Given the description of an element on the screen output the (x, y) to click on. 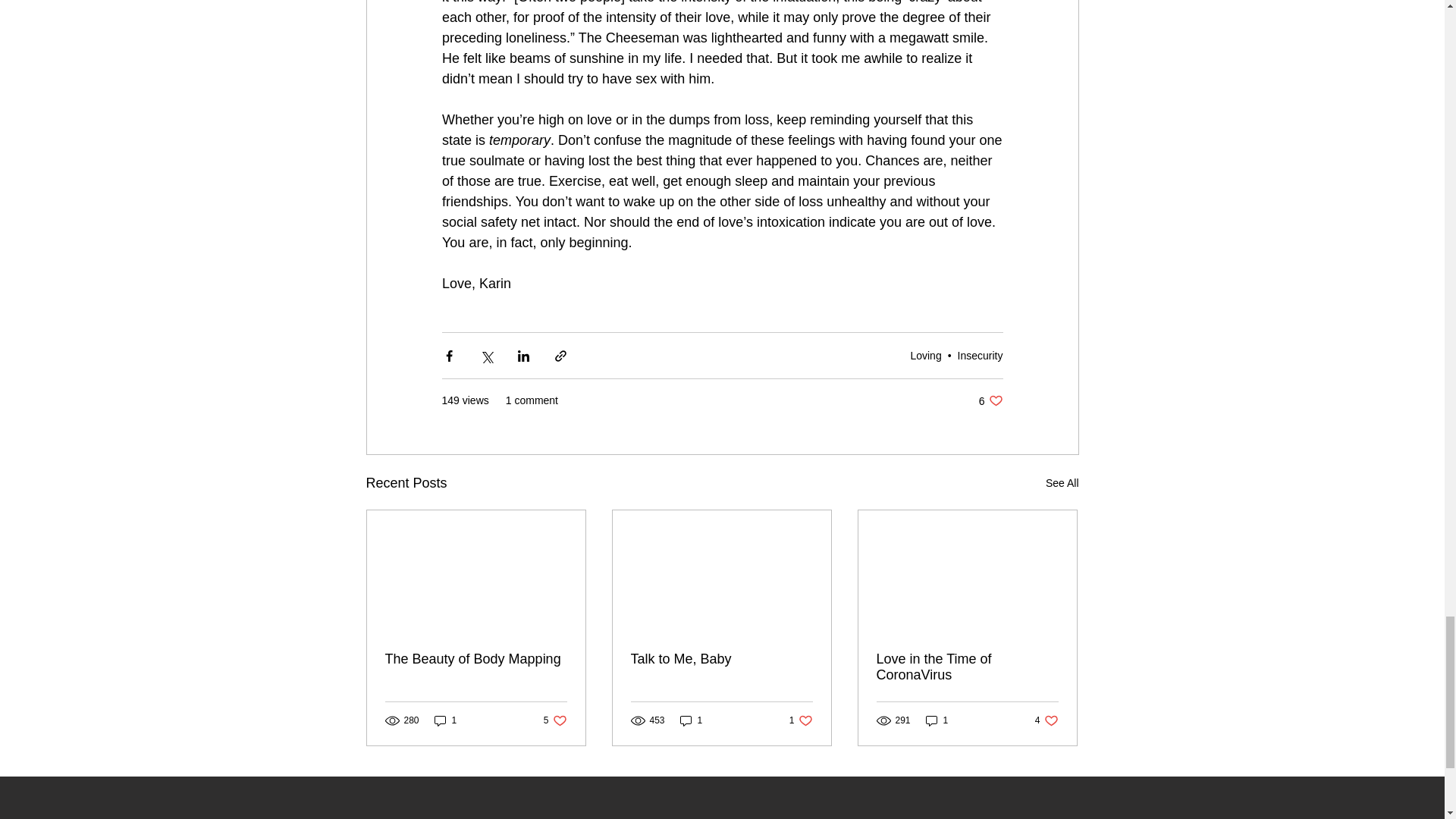
Insecurity (990, 400)
The Beauty of Body Mapping (980, 354)
See All (476, 659)
1 (1061, 483)
Loving (1046, 719)
1 (555, 719)
Talk to Me, Baby (445, 719)
1 (925, 354)
Love in the Time of CoronaVirus (937, 719)
